Given the description of an element on the screen output the (x, y) to click on. 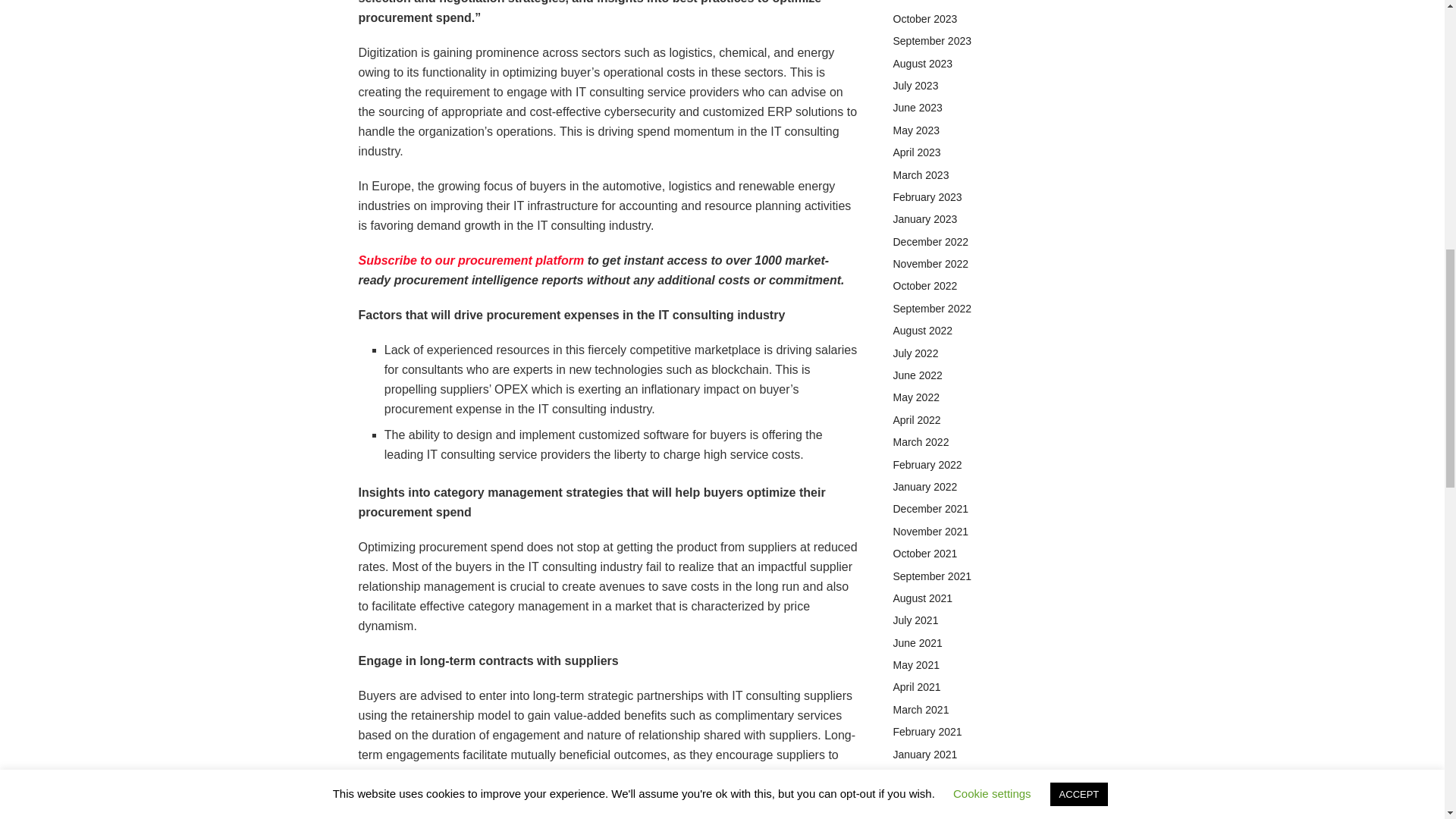
Subscribe to our procurement platform (470, 259)
